Given the description of an element on the screen output the (x, y) to click on. 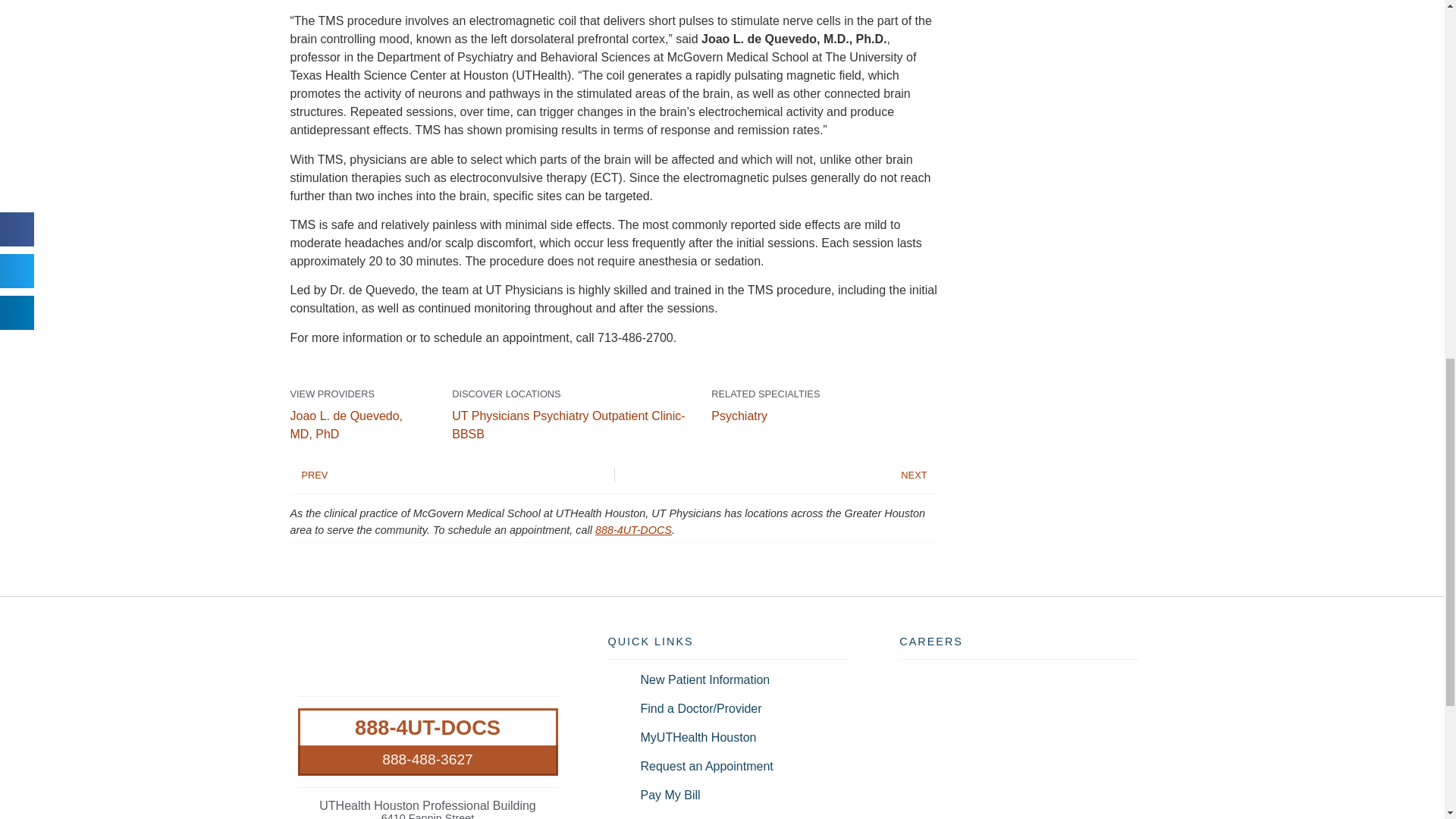
View Psychiatry (739, 415)
View Joao L. de Quevedo (346, 424)
View UT Physicians Psychiatry Outpatient Clinic-BBSB (567, 424)
